Given the description of an element on the screen output the (x, y) to click on. 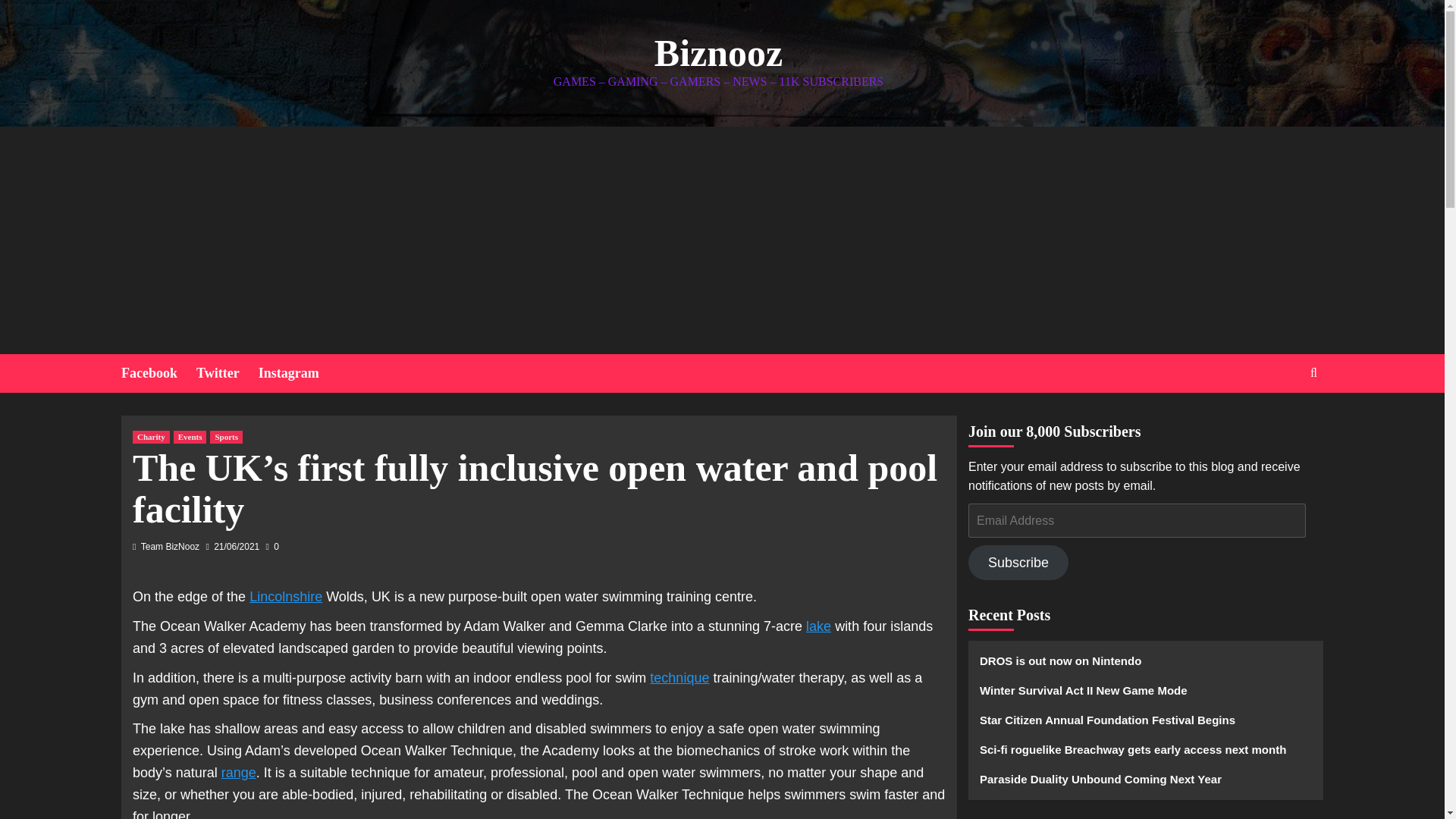
technique (679, 677)
range (238, 772)
Search (1278, 419)
Team BizNooz (170, 546)
Instagram (298, 373)
Facebook (158, 373)
Biznooz (718, 52)
Lincolnshire (284, 596)
Twitter (227, 373)
0 (272, 546)
Events (189, 436)
lake (818, 626)
Sports (226, 436)
Charity (151, 436)
